Given the description of an element on the screen output the (x, y) to click on. 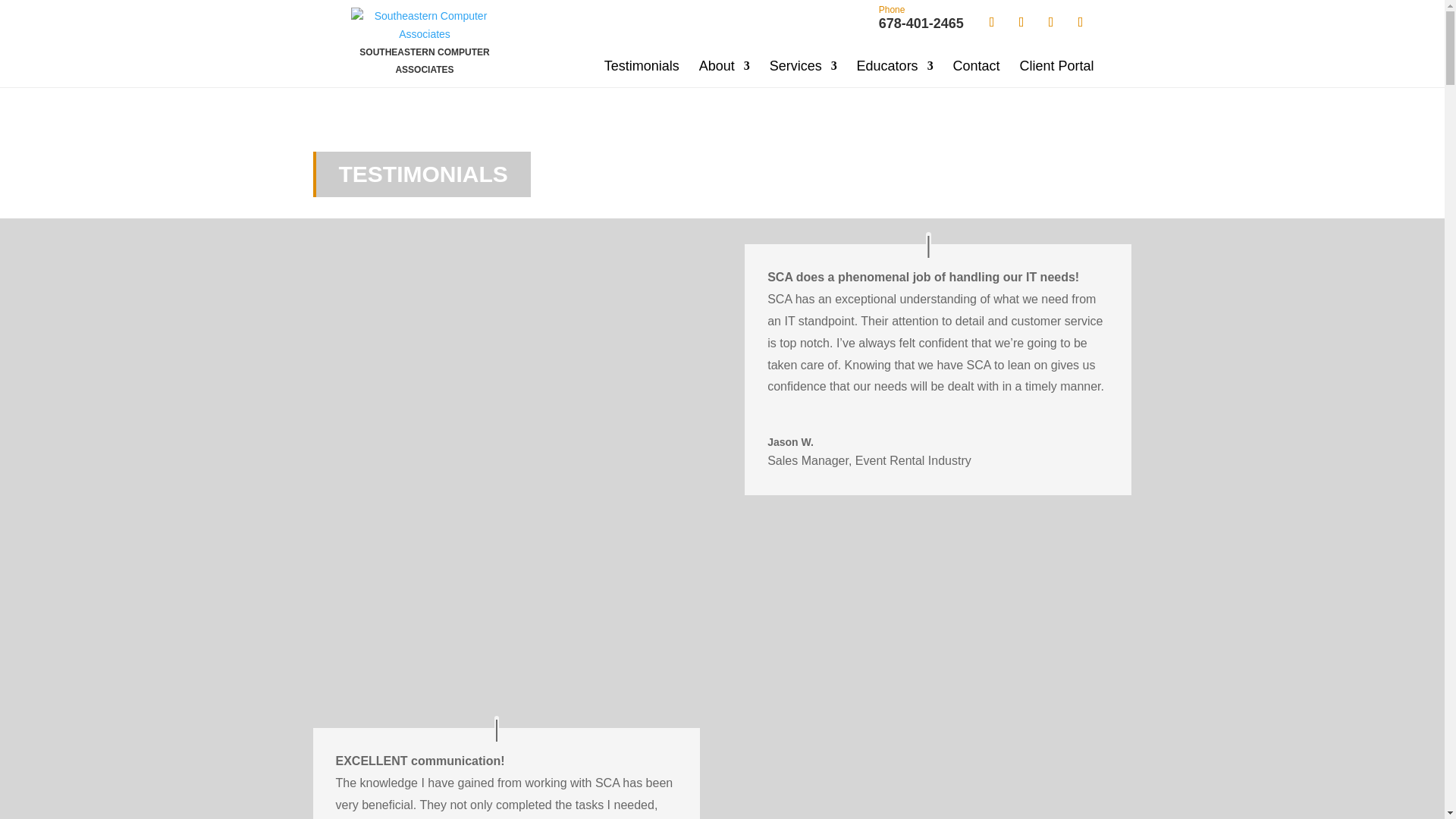
Services (803, 65)
Client Portal (1056, 65)
Educators (921, 18)
SOUTHEASTERN COMPUTER ASSOCIATES (895, 65)
Contact (423, 46)
Testimonials (976, 65)
About (641, 65)
